Given the description of an element on the screen output the (x, y) to click on. 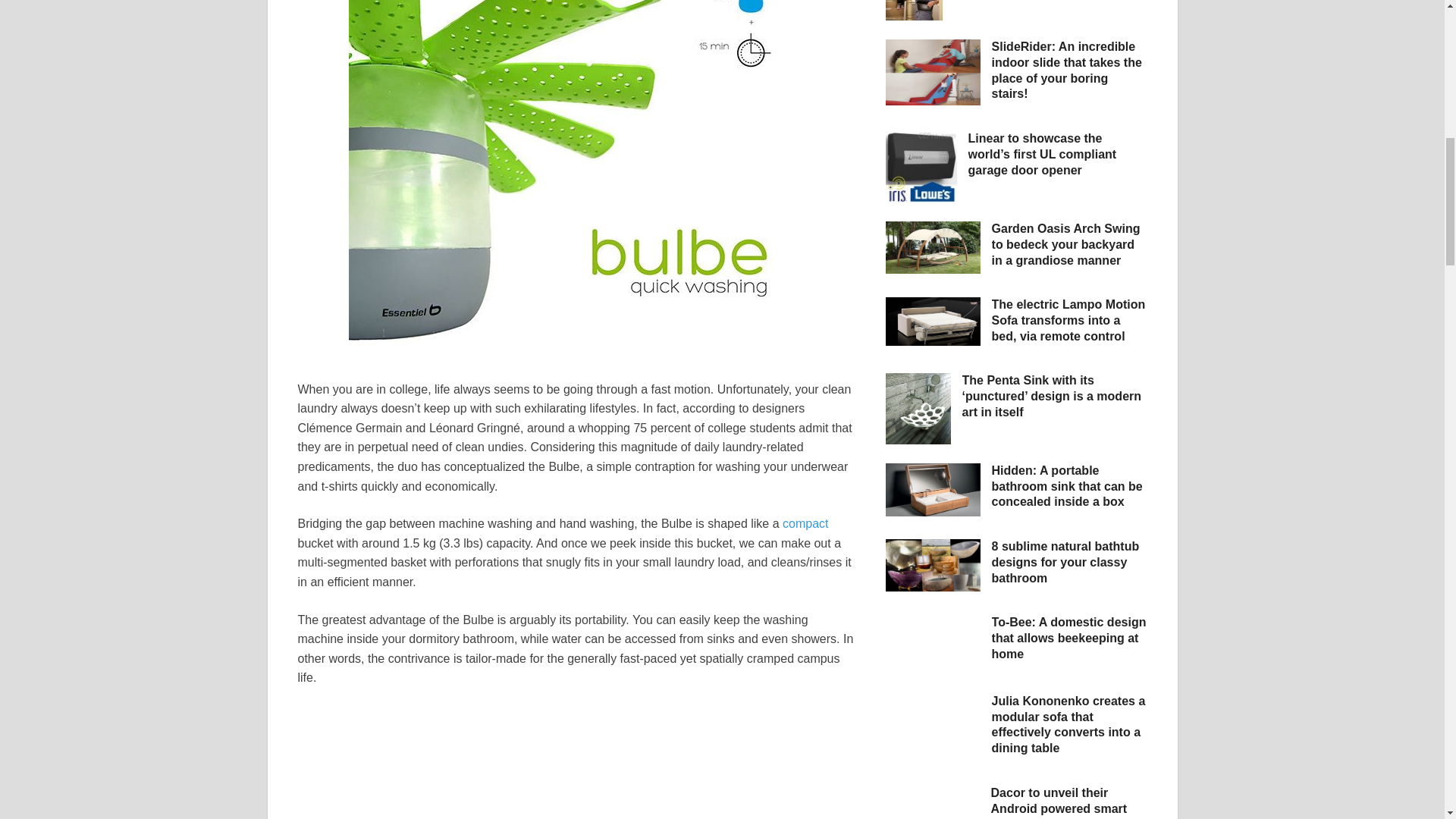
compact (805, 522)
